Given the description of an element on the screen output the (x, y) to click on. 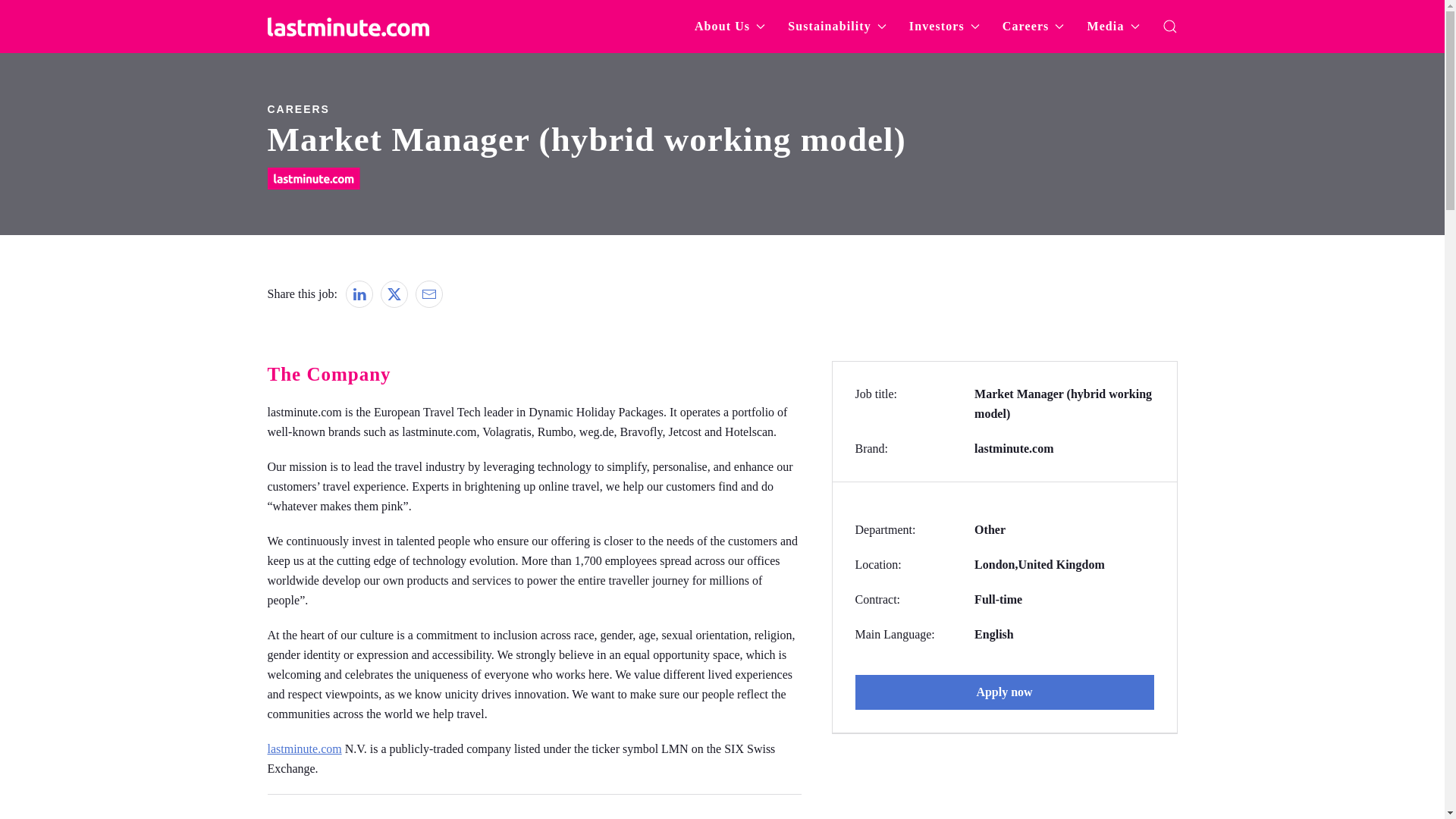
Investors (943, 26)
Media (1112, 26)
Careers (297, 108)
Careers (1033, 26)
CAREERS (721, 108)
Sustainability (836, 26)
About Us (729, 26)
apply now (1005, 692)
